Given the description of an element on the screen output the (x, y) to click on. 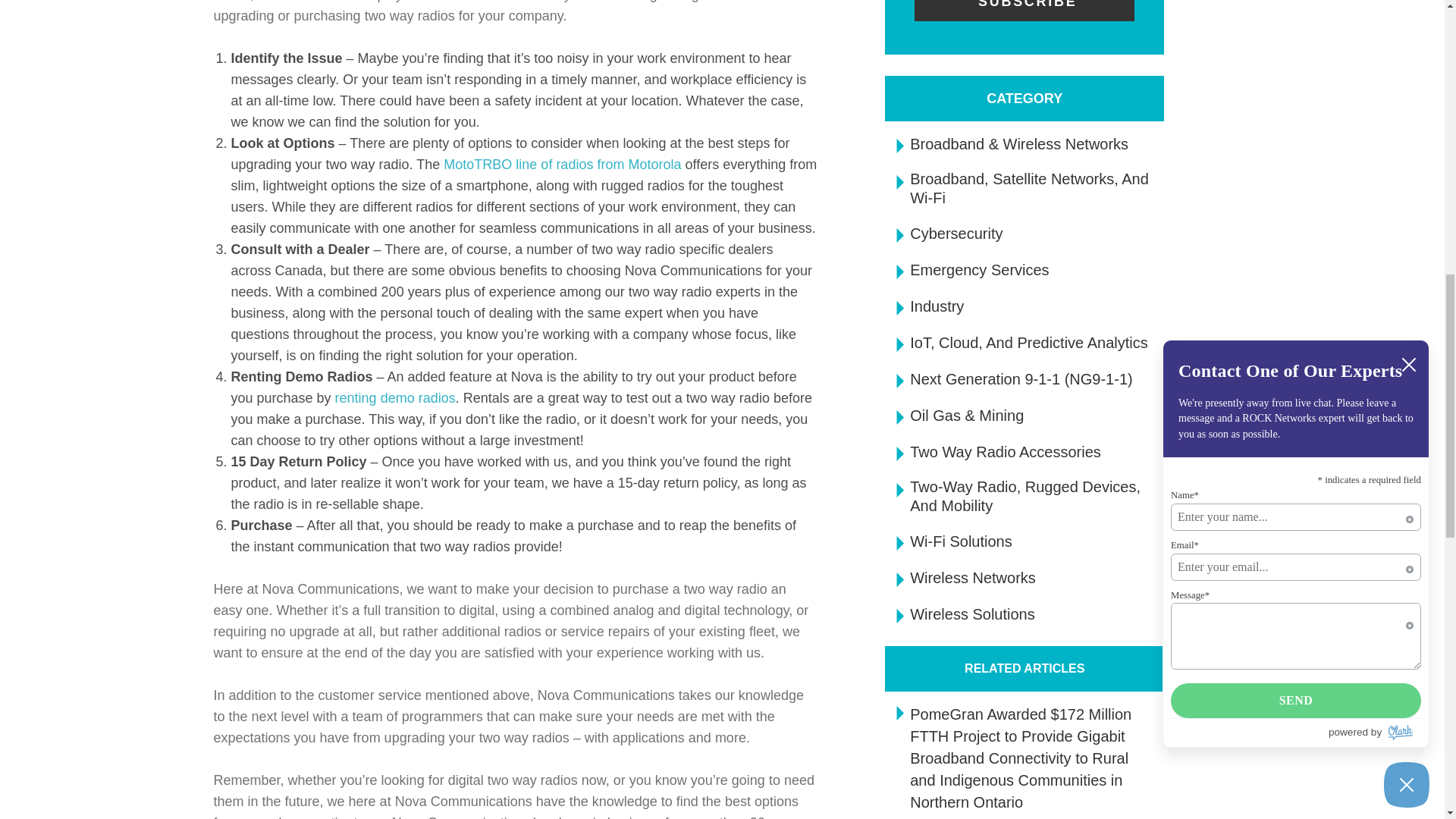
Subscribe (1024, 10)
